Given the description of an element on the screen output the (x, y) to click on. 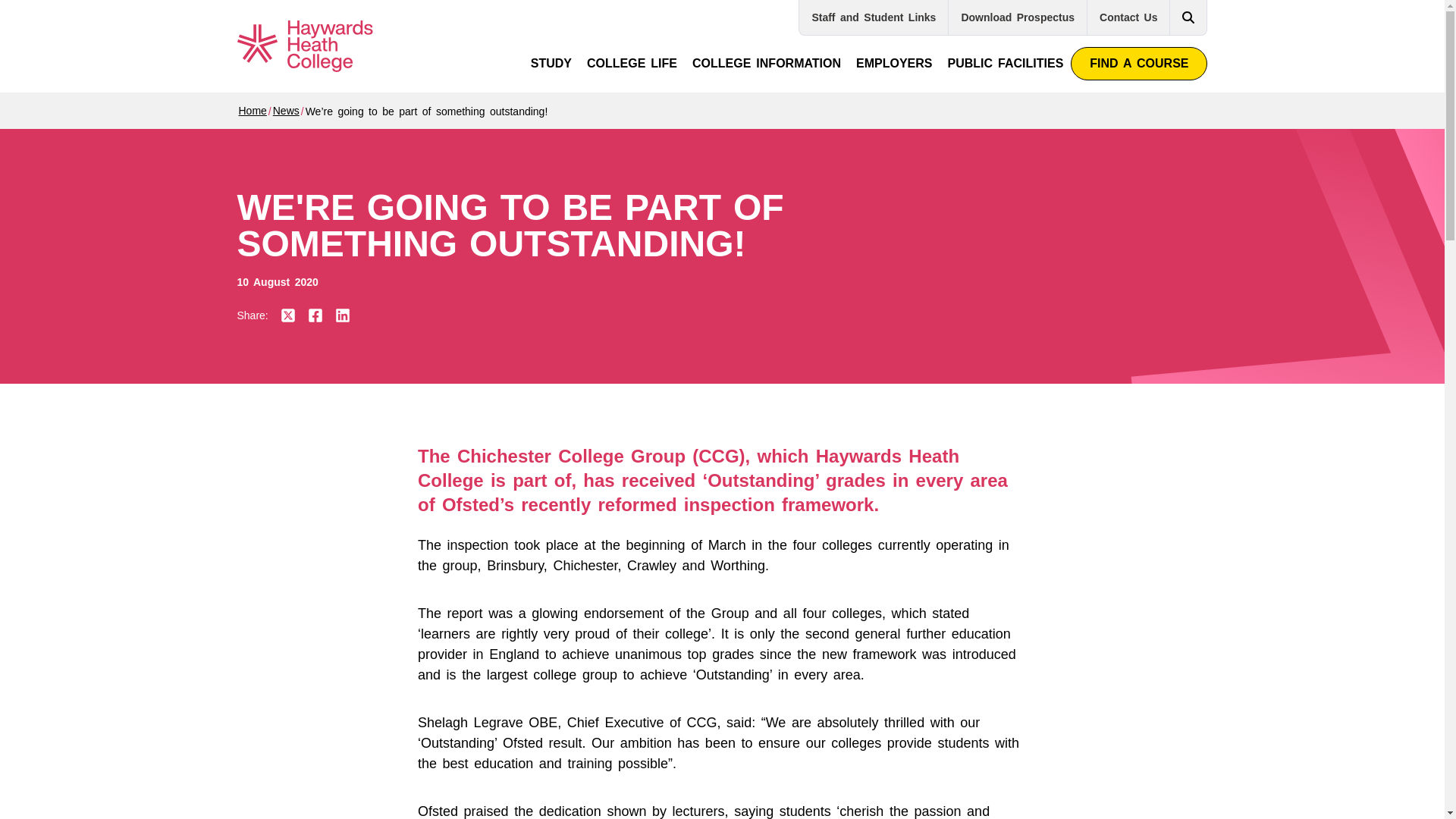
STUDY (550, 63)
Home Link Logo (314, 46)
Search (1188, 17)
Contact Us (1128, 17)
COLLEGE INFORMATION (766, 63)
Staff and Student Links (874, 17)
Download Prospectus (1018, 17)
COLLEGE LIFE (631, 63)
